Given the description of an element on the screen output the (x, y) to click on. 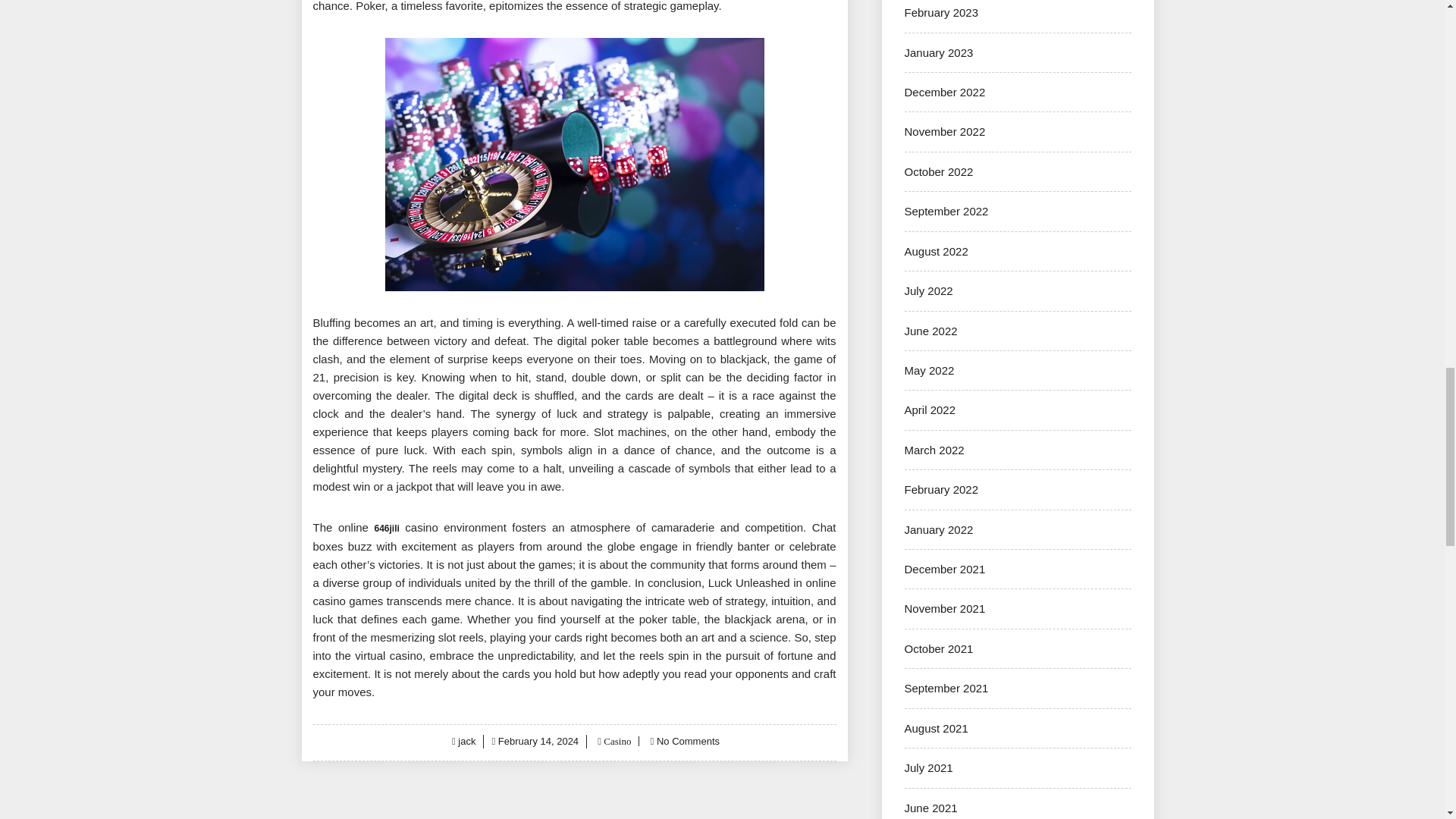
No Comments (687, 740)
February 14, 2024 (537, 740)
646jili (386, 528)
jack (467, 740)
Casino (615, 740)
